Given the description of an element on the screen output the (x, y) to click on. 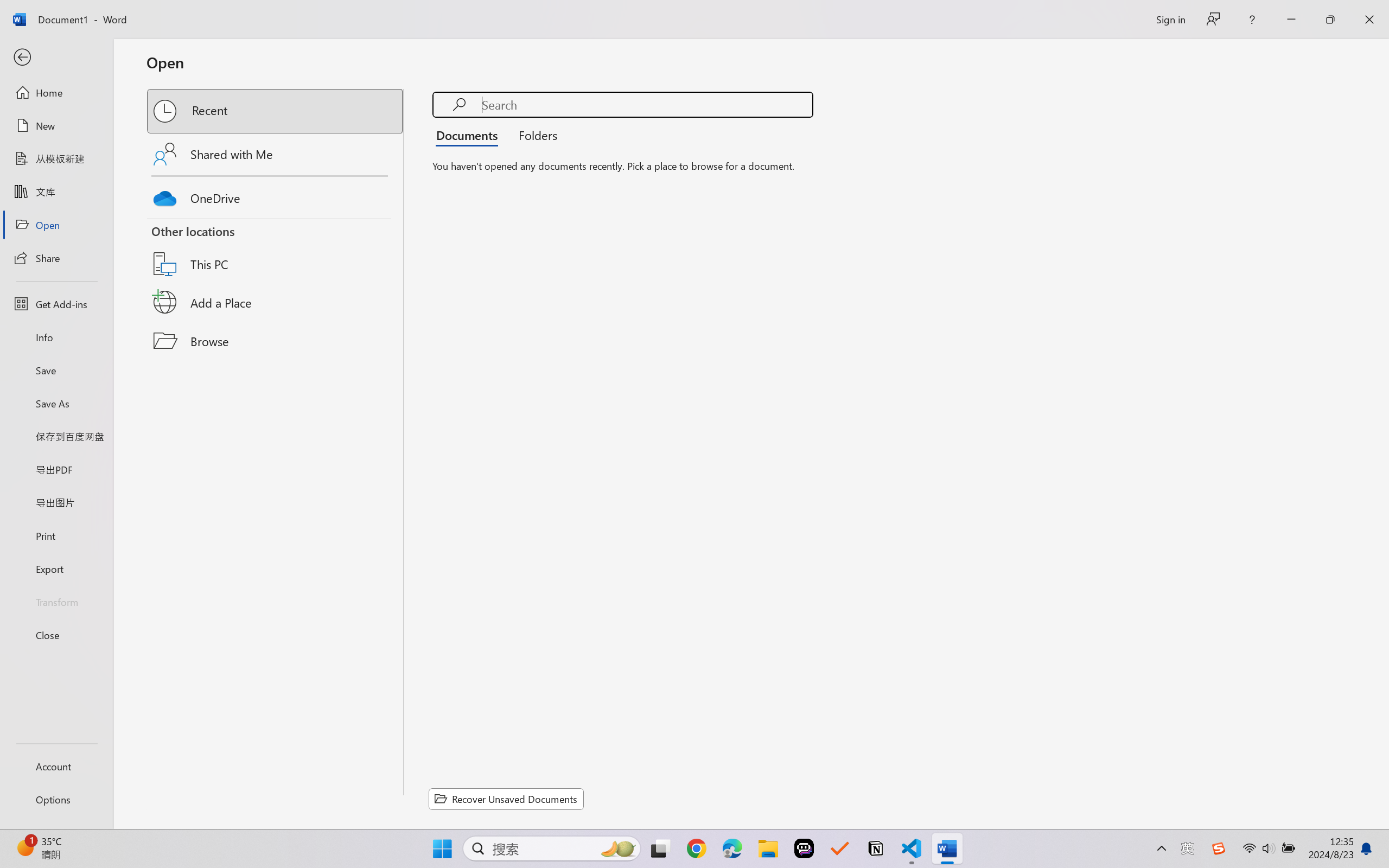
Get Add-ins (56, 303)
Folders (534, 134)
Documents (469, 134)
Back (56, 57)
Transform (56, 601)
